Given the description of an element on the screen output the (x, y) to click on. 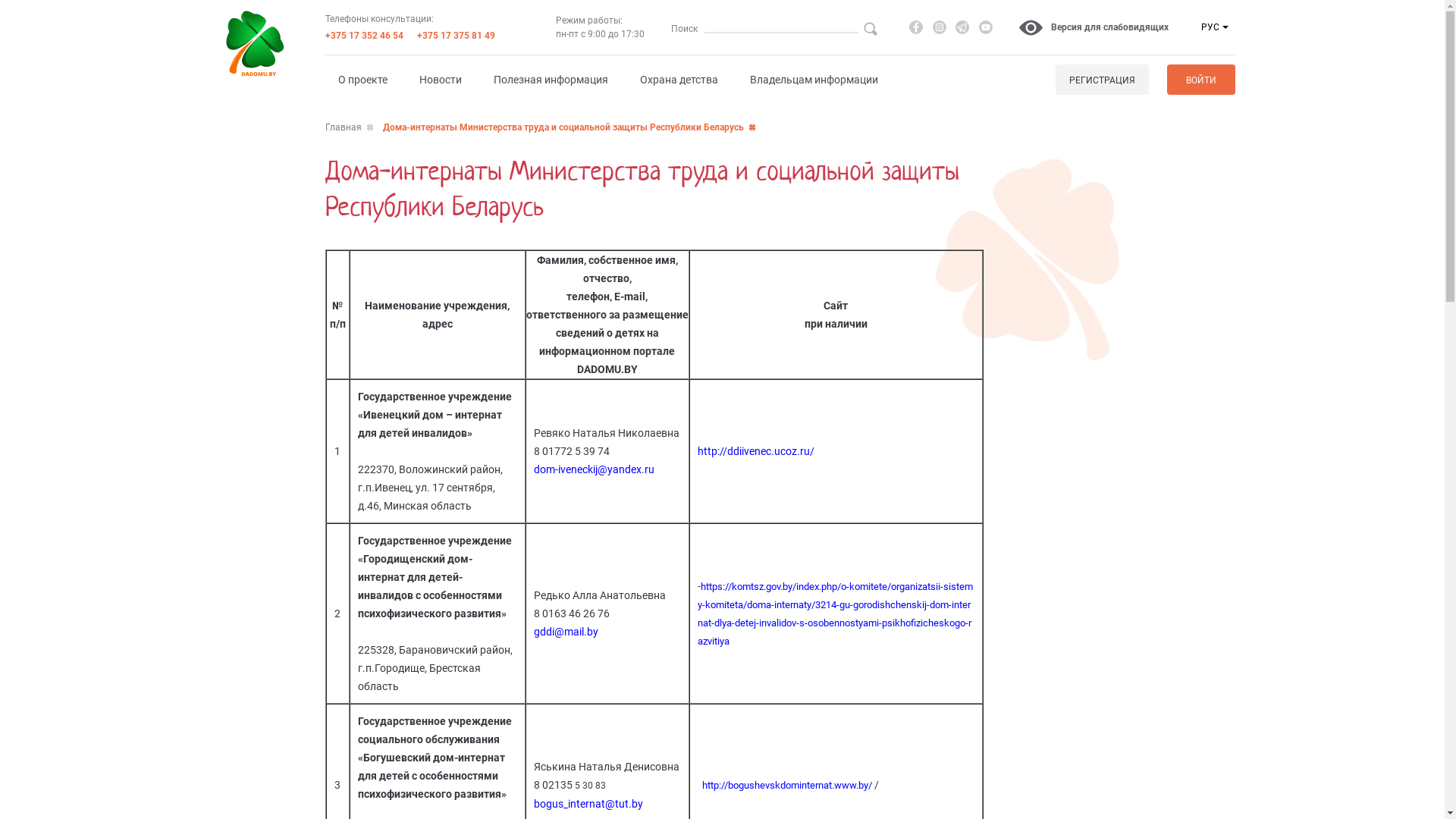
+375 17 352 46 54 Element type: text (363, 35)
+375 17 375 81 49 Element type: text (456, 35)
dom-iveneckij@yandex.ru Element type: text (593, 469)
gddi@mail.by Element type: text (565, 631)
http://ddiivenec.ucoz.ru/ Element type: text (755, 451)
bogus_internat@tut.by Element type: text (588, 803)
http://bogushevskdominternat.www.by/ Element type: text (787, 784)
